Given the description of an element on the screen output the (x, y) to click on. 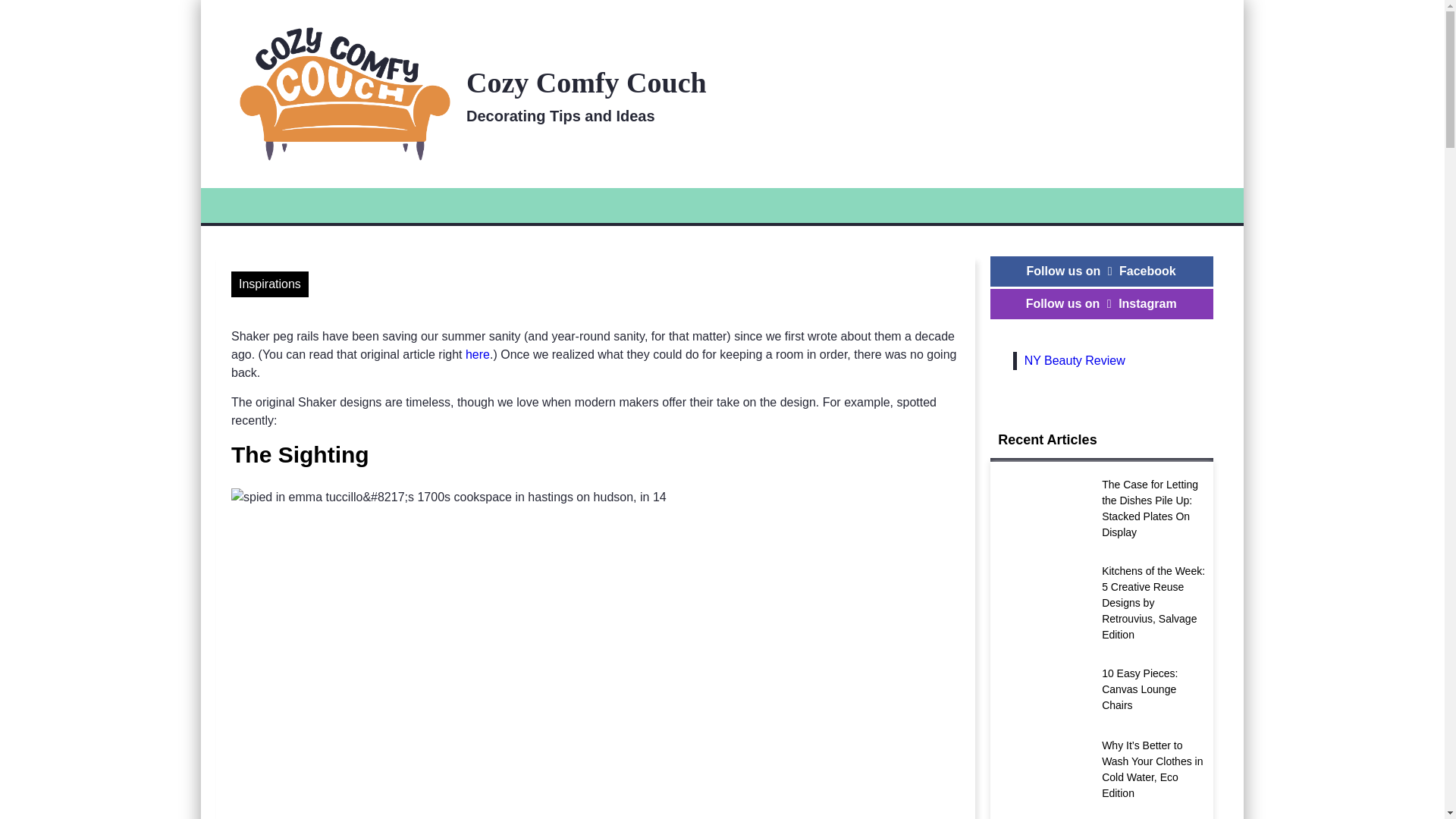
here (477, 354)
Inspirations (1049, 713)
